Given the description of an element on the screen output the (x, y) to click on. 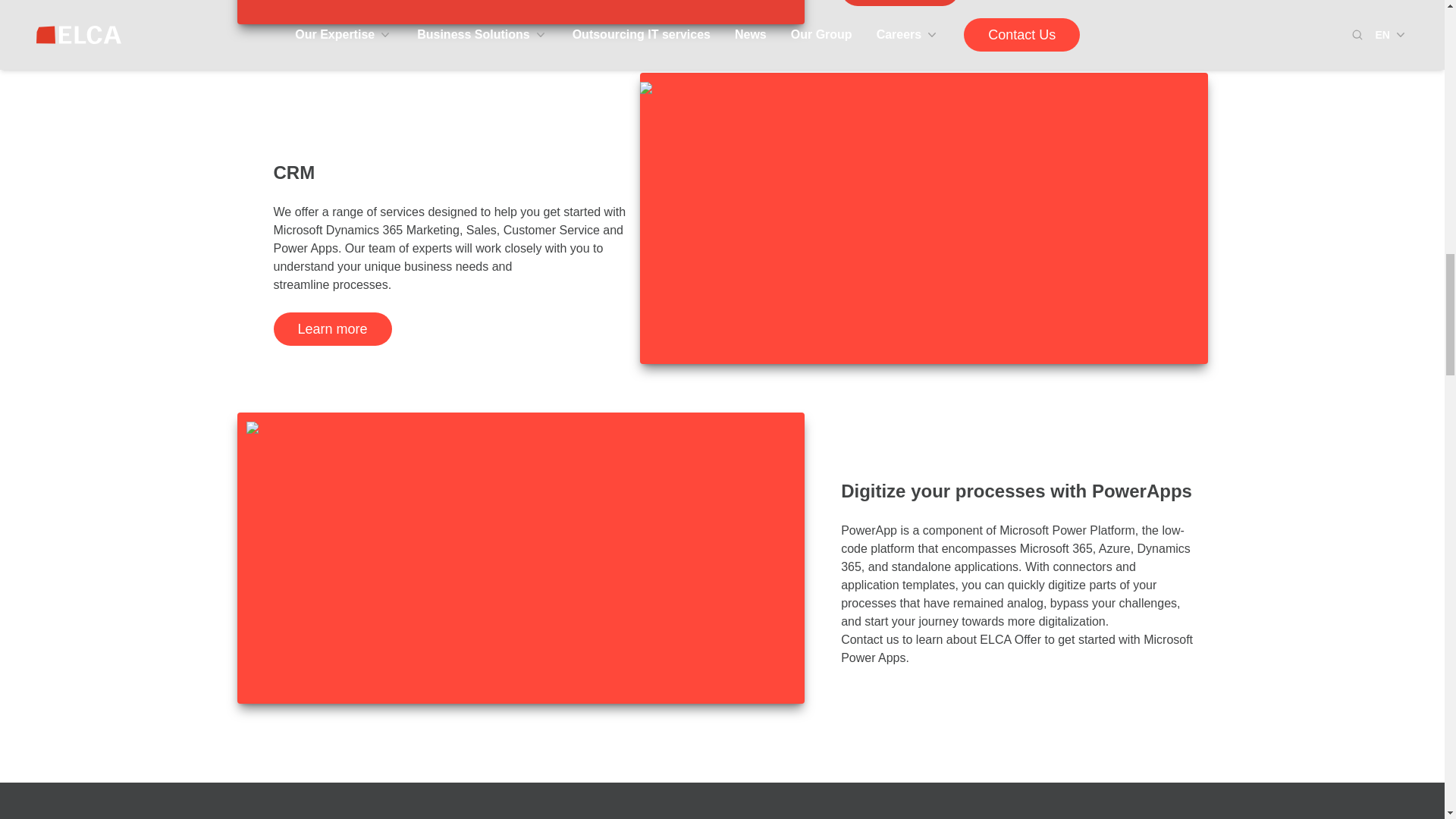
Learn more (332, 328)
Learn more (900, 2)
